Given the description of an element on the screen output the (x, y) to click on. 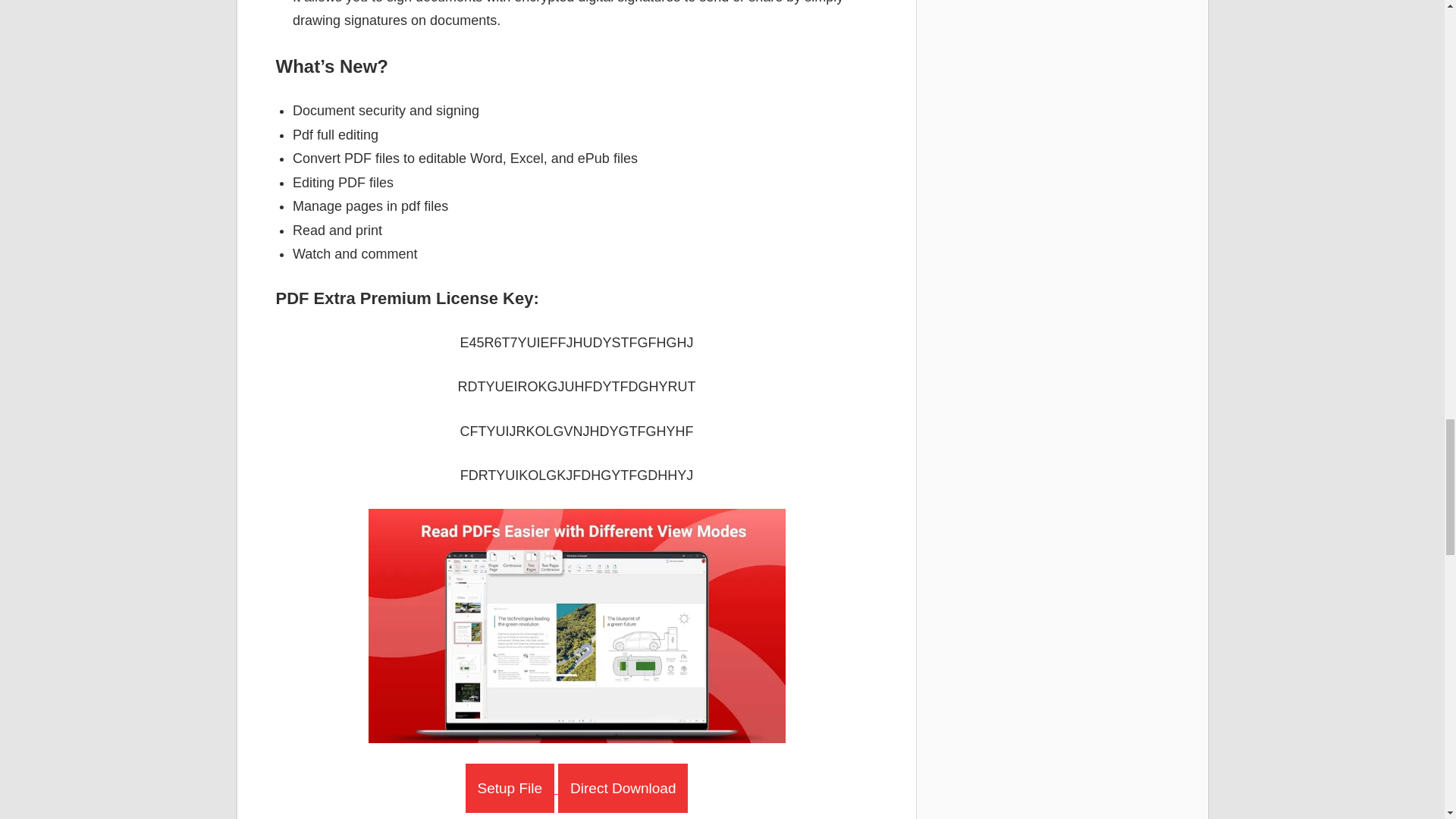
Direct Download (622, 788)
Setup File Direct Download (576, 788)
Setup File (509, 788)
